Given the description of an element on the screen output the (x, y) to click on. 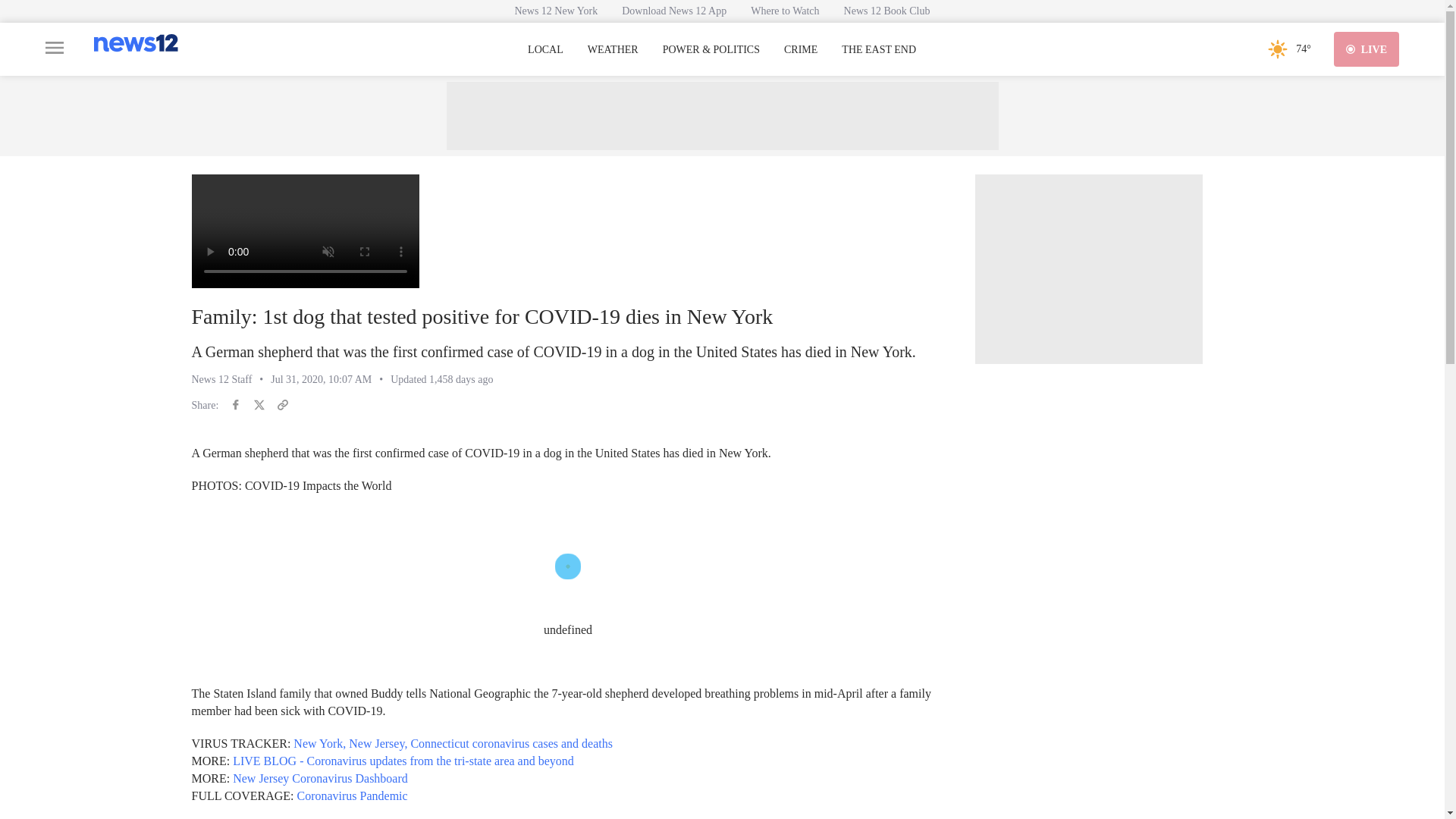
News 12 New York (556, 11)
LIVE (1366, 48)
THE EAST END (878, 49)
WEATHER (613, 49)
LOCAL (545, 49)
Download News 12 App (673, 11)
CRIME (800, 49)
News 12 Book Club (886, 11)
Sunny (1277, 48)
Where to Watch (784, 11)
